Given the description of an element on the screen output the (x, y) to click on. 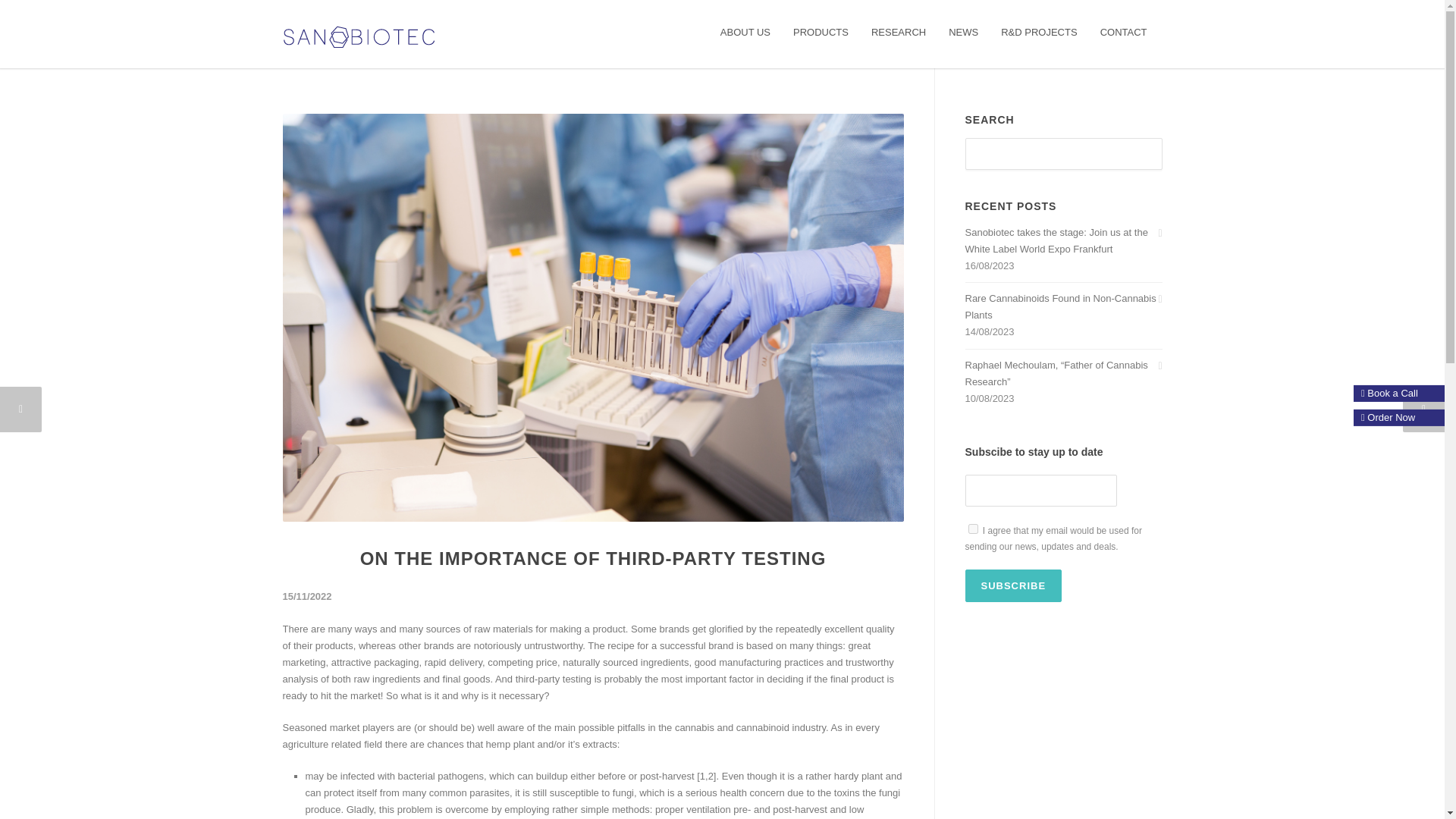
on (972, 528)
Permalink to On the importance of third-party testing (593, 557)
NEWS (963, 32)
CONTACT (1123, 32)
Subscribe (1012, 585)
PRODUCTS (820, 32)
ABOUT US (745, 32)
RESEARCH (898, 32)
